Given the description of an element on the screen output the (x, y) to click on. 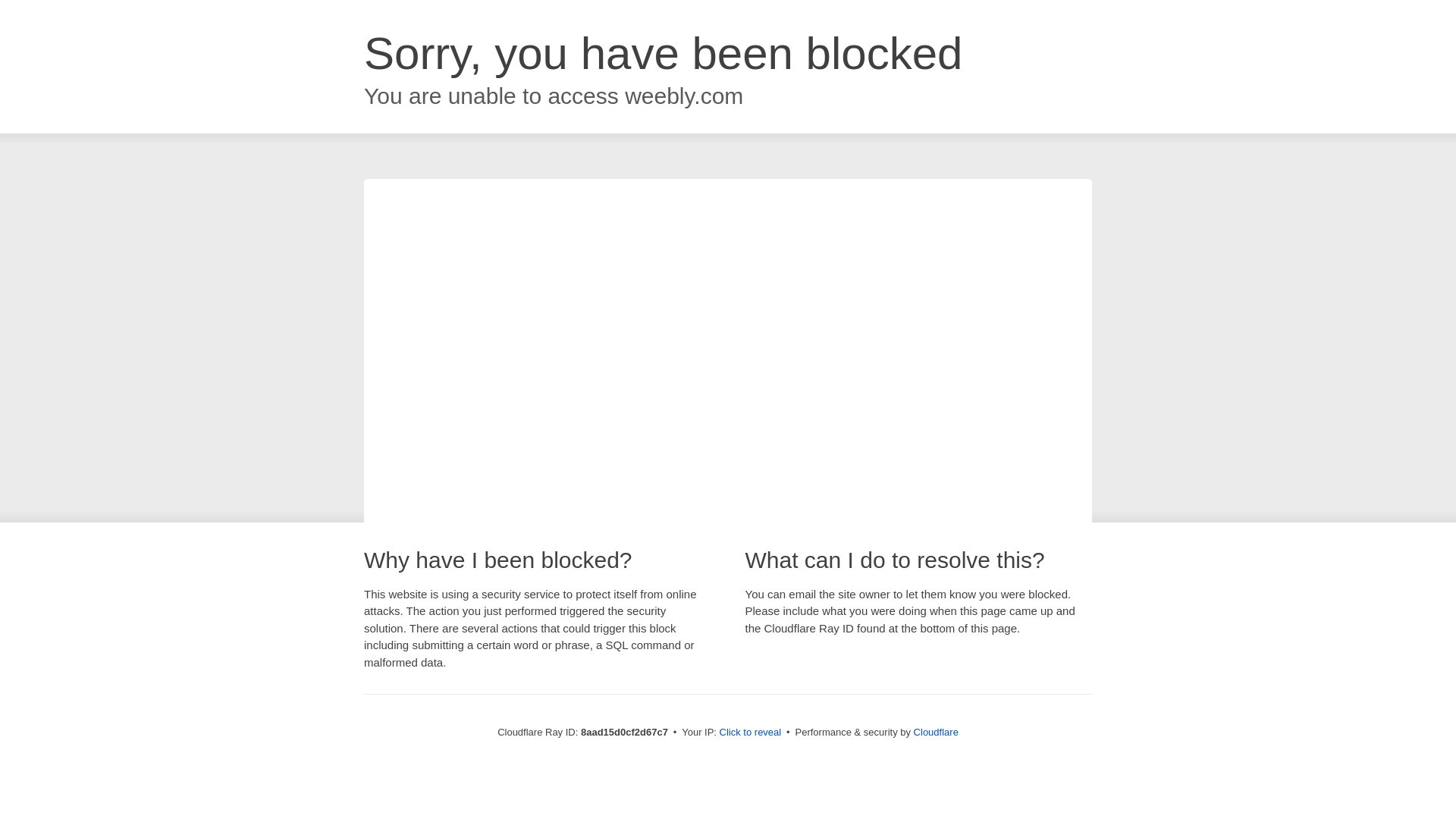
Cloudflare (936, 731)
Click to reveal (750, 732)
